Given the description of an element on the screen output the (x, y) to click on. 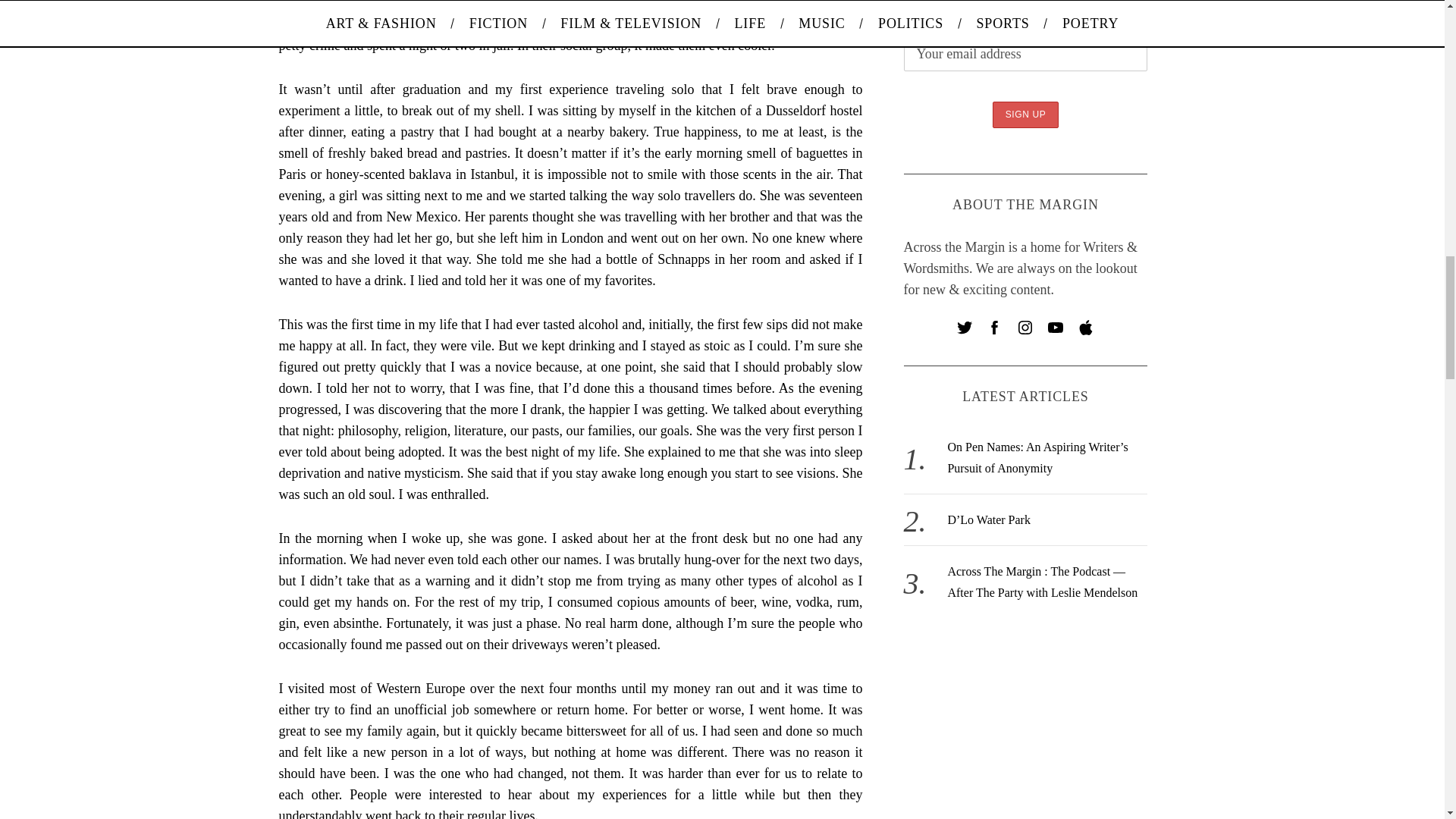
Sign up (1025, 114)
Sign up (1025, 114)
